Given the description of an element on the screen output the (x, y) to click on. 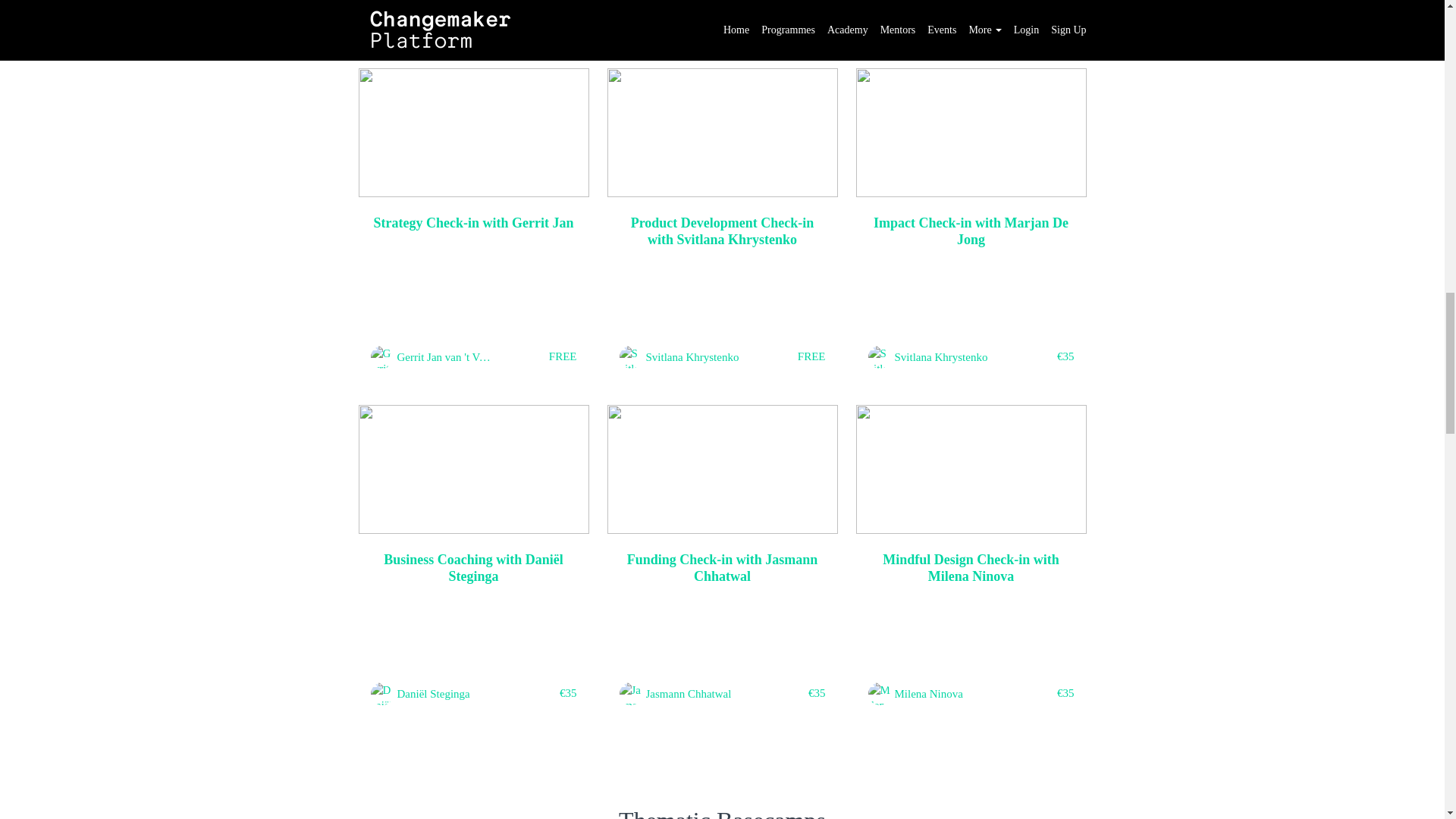
Mindful Design Check-in with Milena Ninova (970, 568)
Milena Ninova (928, 693)
Svitlana Khrystenko (692, 356)
Strategy Check-in with Gerrit Jan (472, 223)
Funding Check-in with Jasmann Chhatwal (721, 568)
Impact Check-in with Marjan De Jong (970, 231)
Gerrit Jan van 't Veen (446, 356)
Svitlana Khrystenko (941, 356)
Jasmann Chhatwal (689, 693)
Product Development Check-in with Svitlana Khrystenko (721, 231)
